Given the description of an element on the screen output the (x, y) to click on. 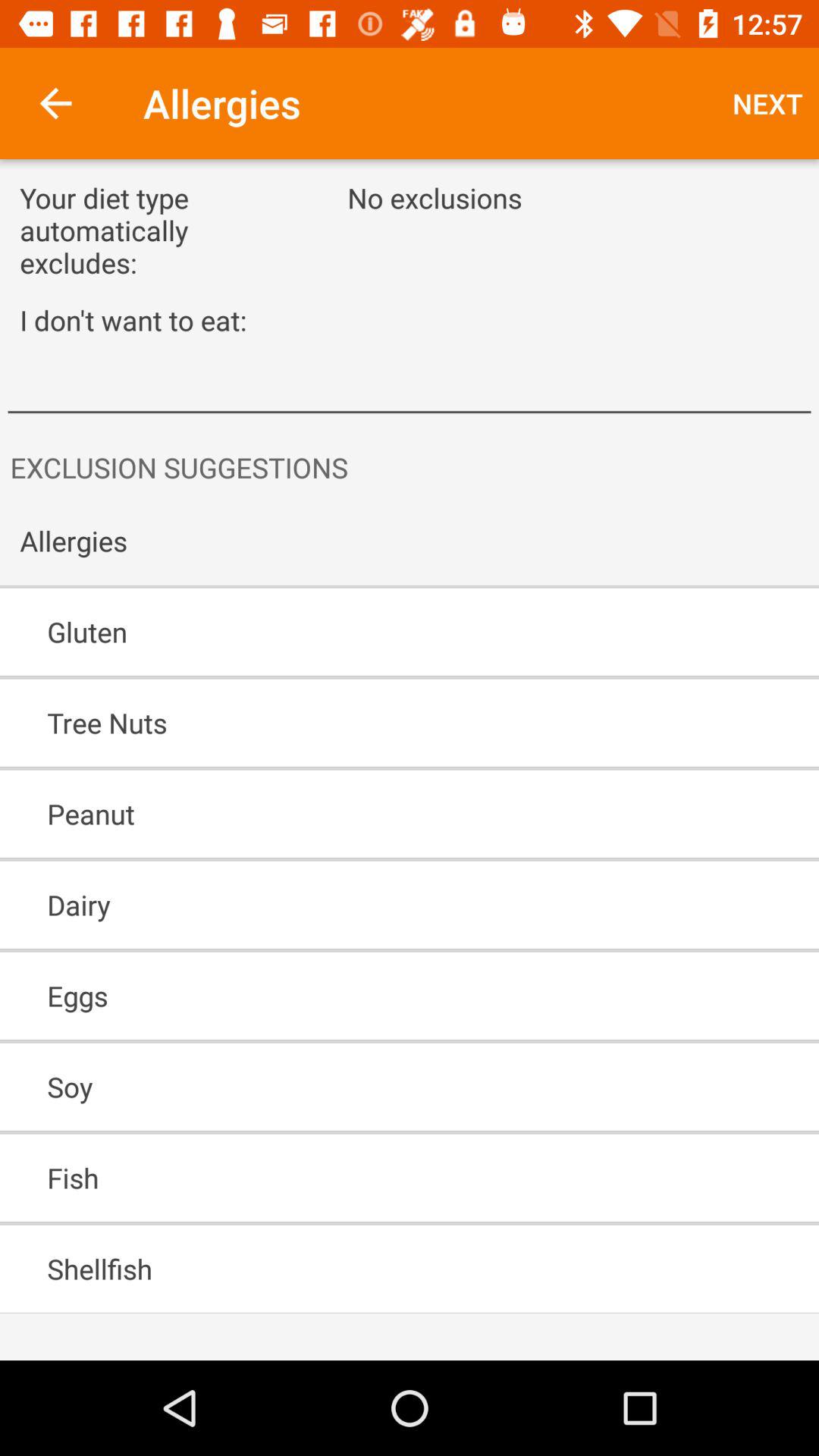
turn off tree nuts item (365, 722)
